Given the description of an element on the screen output the (x, y) to click on. 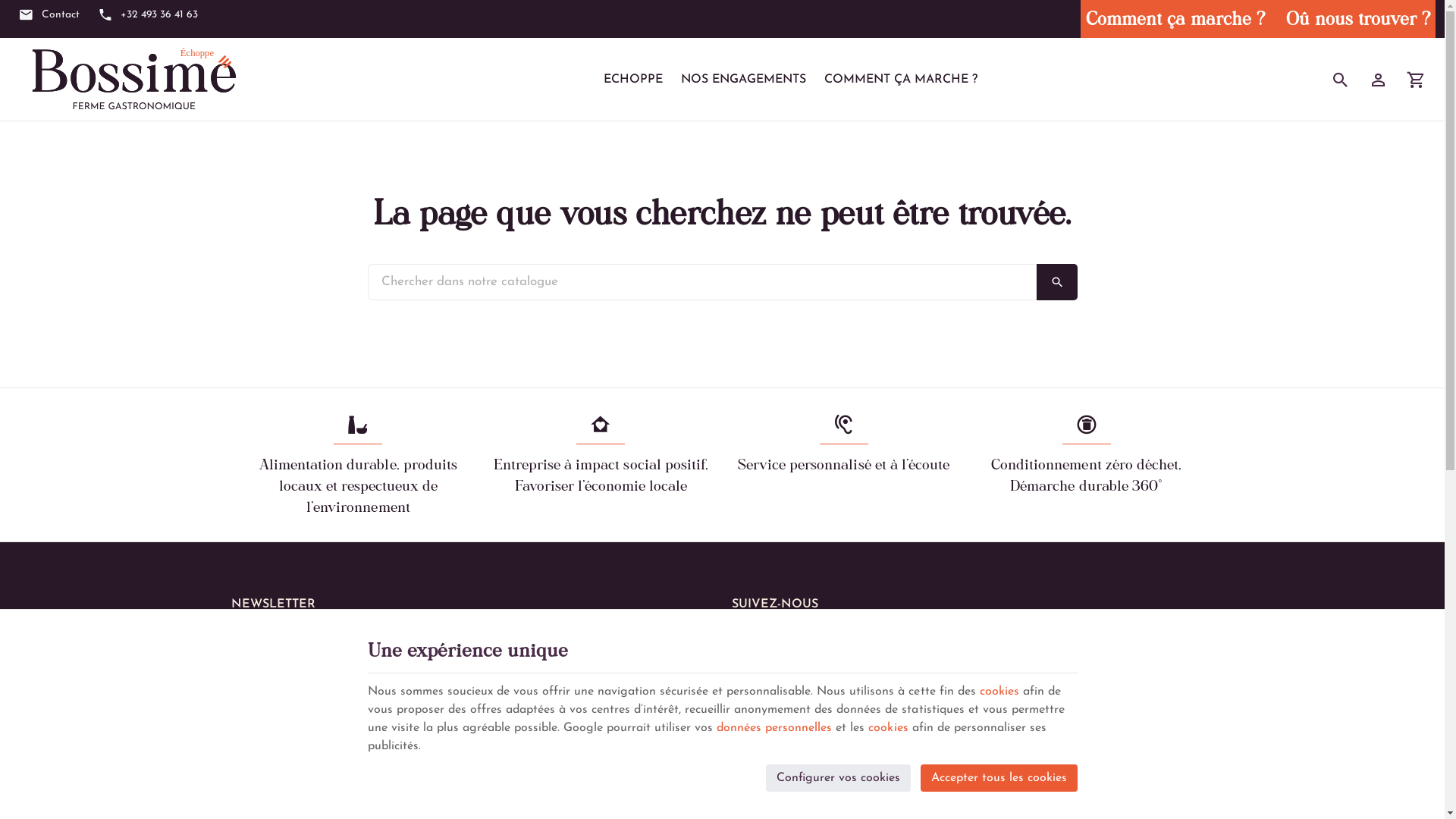
NOS ENGAGEMENTS Element type: text (743, 79)
Contact Element type: text (48, 15)
OK Element type: text (1055, 281)
ECHOPPE Element type: text (632, 79)
cookies Element type: text (887, 727)
Configurer vos cookies Element type: text (837, 777)
Accepter tous les cookies Element type: text (998, 777)
Voir mon panier Element type: hover (1416, 79)
+32 493 36 41 63 Element type: text (147, 15)
cookies Element type: text (999, 691)
Mon compte Element type: hover (1378, 79)
